Given the description of an element on the screen output the (x, y) to click on. 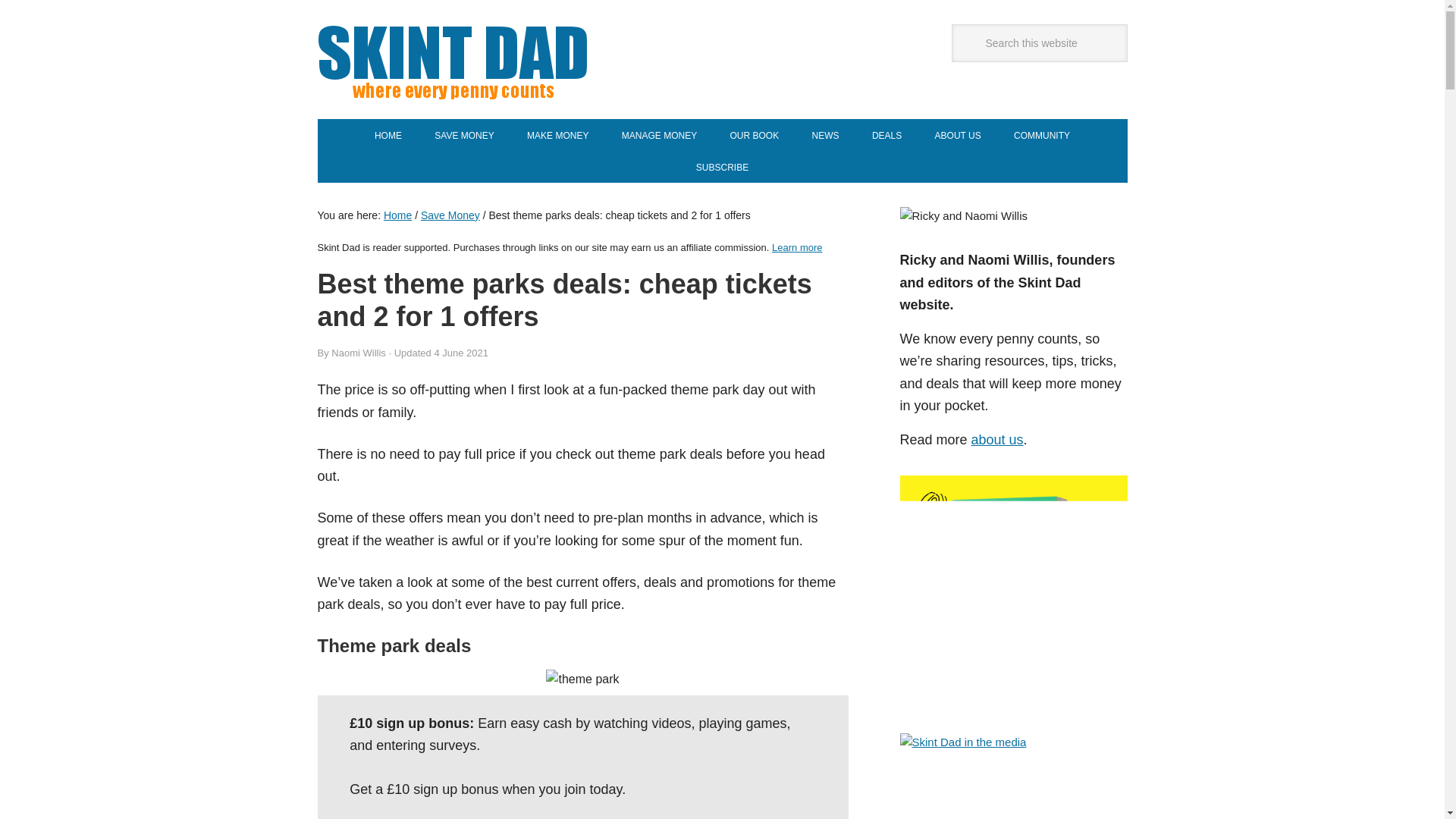
NEWS (825, 134)
SAVE MONEY (463, 134)
COMMUNITY (1041, 134)
SUBSCRIBE (721, 166)
Save Money (450, 215)
DEALS (887, 134)
Manage money (659, 134)
OUR BOOK (753, 134)
MANAGE MONEY (659, 134)
Learn more (796, 247)
Naomi Willis (358, 352)
SKINT DAD (506, 59)
